Given the description of an element on the screen output the (x, y) to click on. 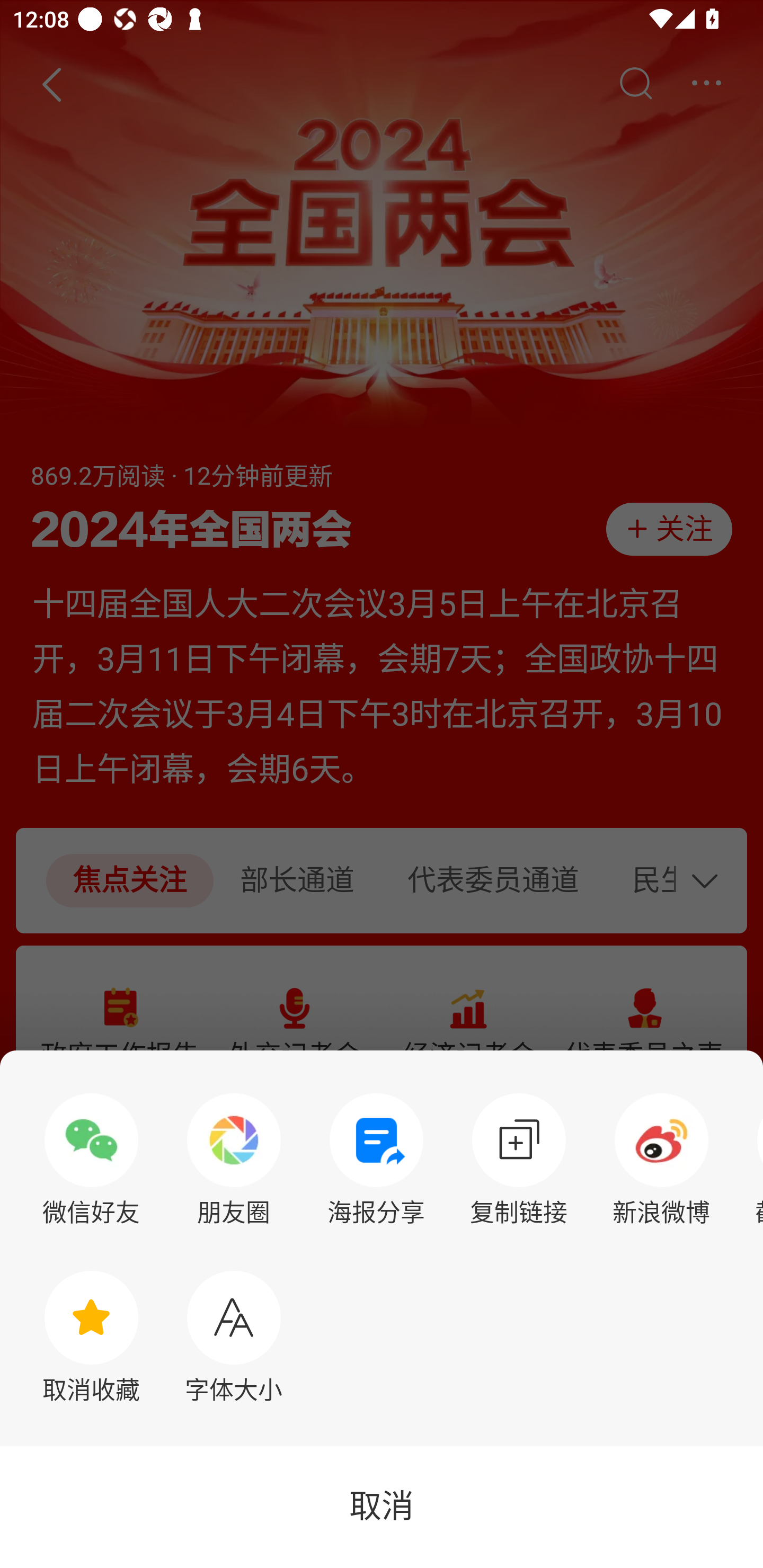
微信好友 (90, 1159)
朋友圈 (233, 1159)
海报分享 (376, 1159)
 复制链接 复制链接 (518, 1159)
新浪微博 (661, 1159)
 取消收藏 取消收藏 (90, 1337)
 字体大小 字体大小 (233, 1337)
取消 (381, 1506)
